Given the description of an element on the screen output the (x, y) to click on. 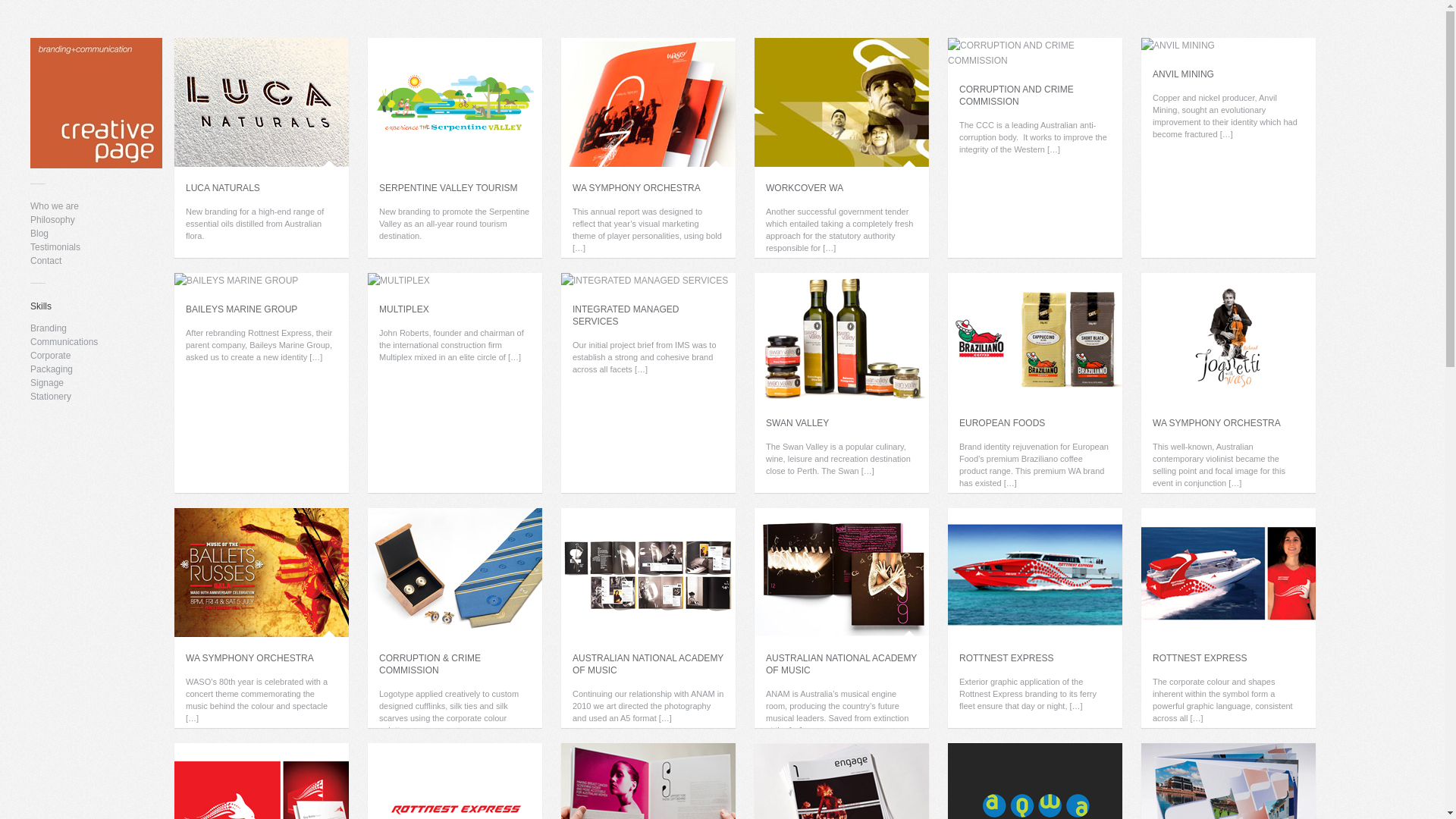
Blog Element type: text (39, 233)
CORRUPTION AND CRIME COMMISSION Element type: hover (1034, 52)
WA SYMPHONY ORCHESTRA Element type: text (249, 657)
LUCA NATURALS Element type: text (222, 187)
WA SYMPHONY ORCHESTRA Element type: hover (1228, 337)
SWAN VALLEY Element type: text (796, 422)
MULTIPLEX Element type: text (404, 309)
ANVIL MINING Element type: hover (1177, 45)
INTEGRATED MANAGED SERVICES Element type: text (625, 315)
Stationery Element type: text (50, 396)
AUSTRALIAN NATIONAL ACADEMY OF MUSIC Element type: text (647, 663)
CORRUPTION & CRIME COMMISSION Element type: hover (454, 572)
ANVIL MINING Element type: text (1183, 74)
WA SYMPHONY ORCHESTRA Element type: text (1216, 422)
ROTTNEST EXPRESS Element type: hover (1034, 572)
BAILEYS MARINE GROUP Element type: hover (236, 280)
WA SYMPHONY ORCHESTRA Element type: hover (648, 101)
INTEGRATED MANAGED SERVICES Element type: hover (644, 280)
CORRUPTION & CRIME COMMISSION Element type: text (429, 663)
Who we are Element type: text (54, 205)
AUSTRALIAN NATIONAL ACADEMY OF MUSIC Element type: text (840, 663)
Testimonials Element type: text (55, 246)
AUSTRALIAN NATIONAL ACADEMY OF MUSIC Element type: hover (648, 572)
EUROPEAN FOODS Element type: hover (1034, 337)
CORRUPTION AND CRIME COMMISSION Element type: text (1016, 95)
SWAN VALLEY Element type: hover (841, 337)
ROTTNEST EXPRESS Element type: text (1199, 657)
Signage Element type: text (46, 382)
EUROPEAN FOODS Element type: text (1001, 422)
Corporate Element type: text (50, 355)
WORKCOVER WA Element type: text (804, 187)
BAILEYS MARINE GROUP Element type: text (241, 309)
Branding Element type: text (48, 328)
Philosophy Element type: text (52, 219)
WA SYMPHONY ORCHESTRA Element type: hover (261, 572)
WA SYMPHONY ORCHESTRA Element type: text (636, 187)
LUCA NATURALS Element type: hover (261, 101)
ROTTNEST EXPRESS Element type: text (1006, 657)
Communications Element type: text (63, 341)
MULTIPLEX Element type: hover (398, 280)
Contact Element type: text (45, 260)
SERPENTINE VALLEY TOURISM Element type: text (448, 187)
Packaging Element type: text (51, 369)
AUSTRALIAN NATIONAL ACADEMY OF MUSIC Element type: hover (841, 572)
SERPENTINE VALLEY TOURISM Element type: hover (454, 101)
ROTTNEST EXPRESS Element type: hover (1228, 572)
WORKCOVER WA Element type: hover (841, 101)
